Given the description of an element on the screen output the (x, y) to click on. 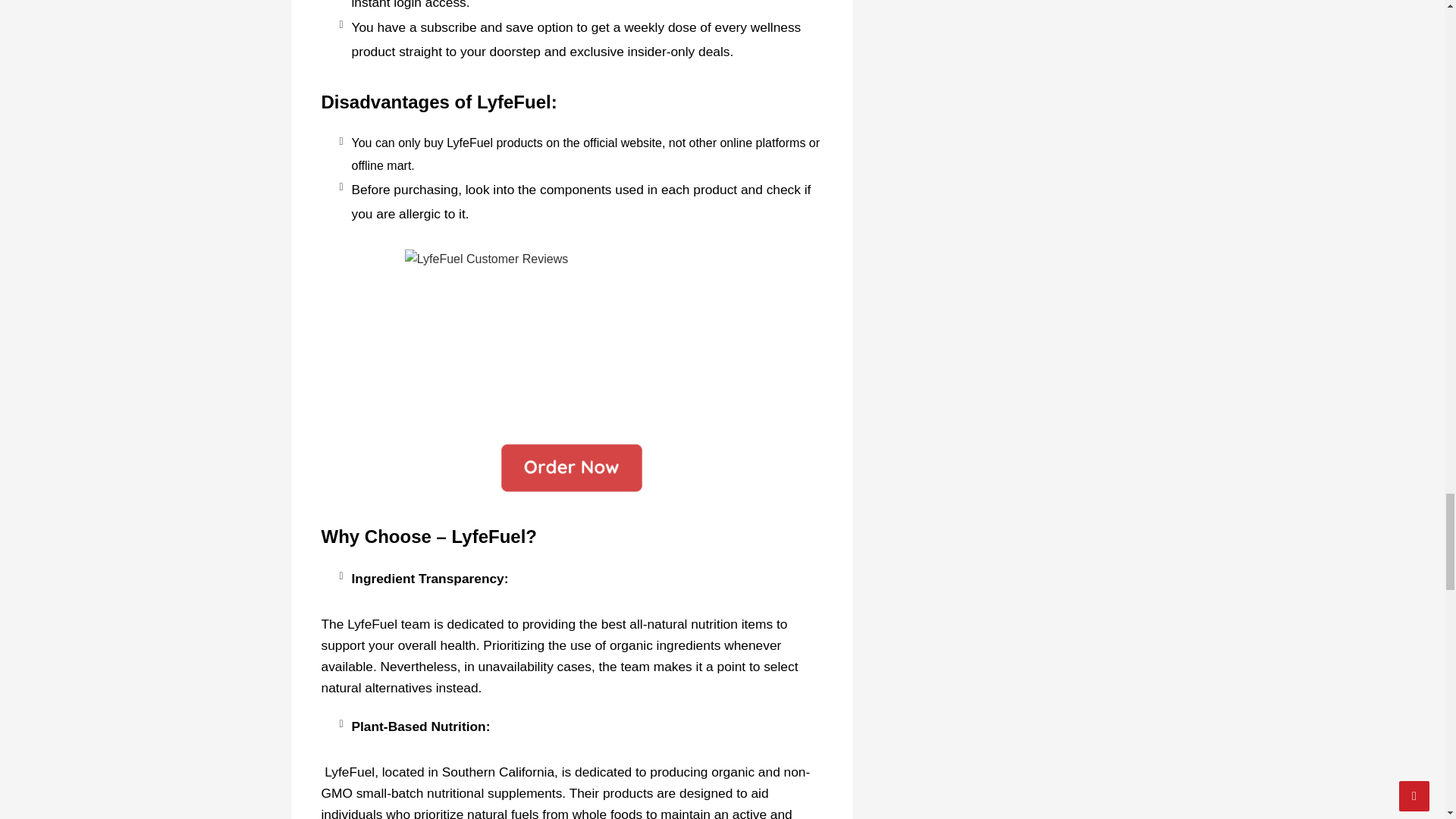
LyfeFuel Reviews 4 (571, 337)
wellness product (577, 38)
LyfeFuel Reviews 3 (571, 469)
